Given the description of an element on the screen output the (x, y) to click on. 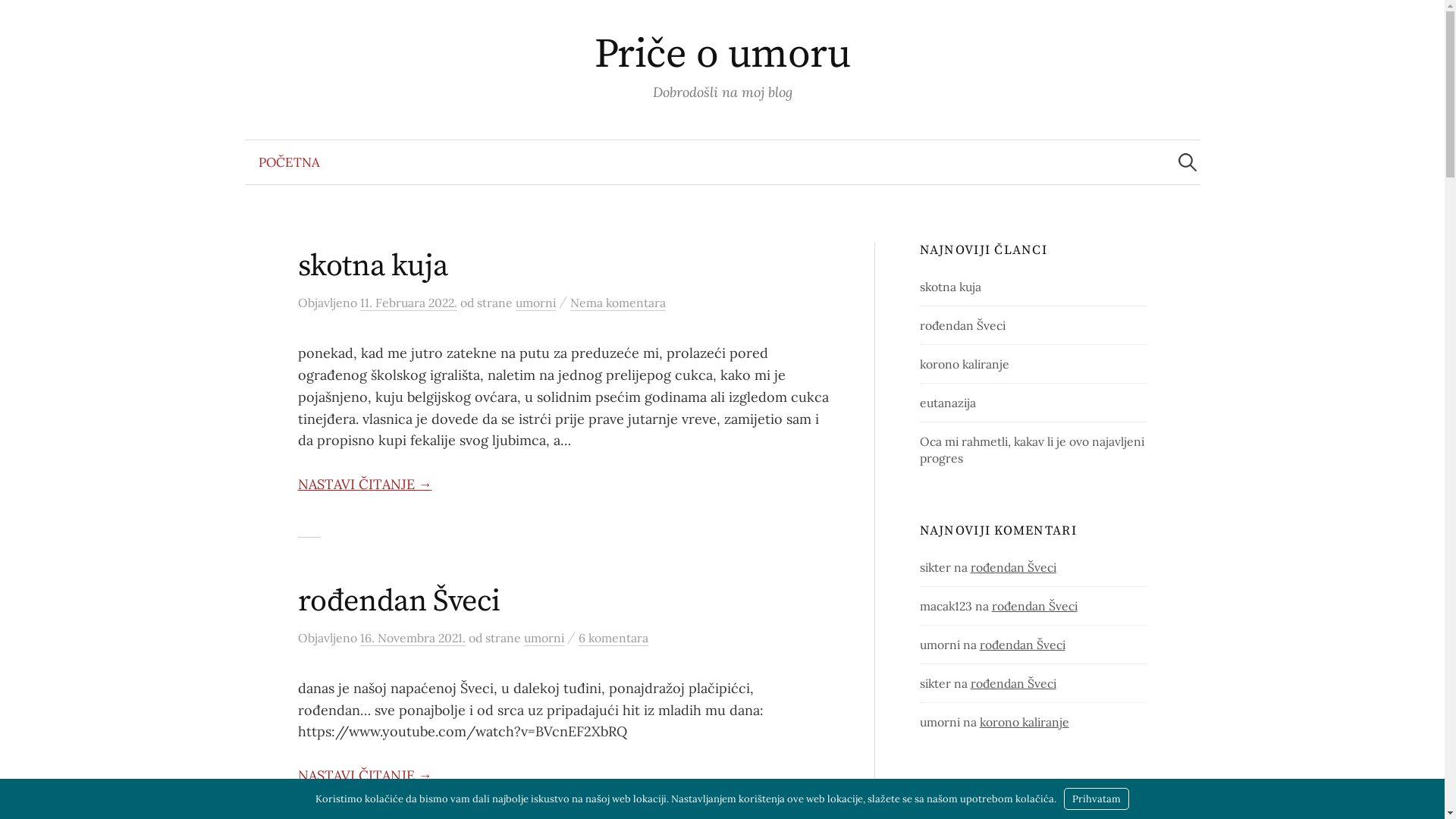
eutanazija Element type: text (947, 402)
korono kaliranje Element type: text (1024, 721)
Prihvatam Element type: text (1096, 798)
Pretraga Element type: text (18, 18)
Oca mi rahmetli, kakav li je ovo najavljeni progres Element type: text (1031, 449)
korono kaliranje Element type: text (964, 363)
Nema komentara
na skotna kuja Element type: text (617, 302)
16. Novembra 2021. Element type: text (411, 638)
skotna kuja Element type: text (372, 266)
umorni Element type: text (543, 638)
umorni Element type: text (535, 302)
skotna kuja Element type: text (950, 286)
11. Februara 2022. Element type: text (407, 302)
